Given the description of an element on the screen output the (x, y) to click on. 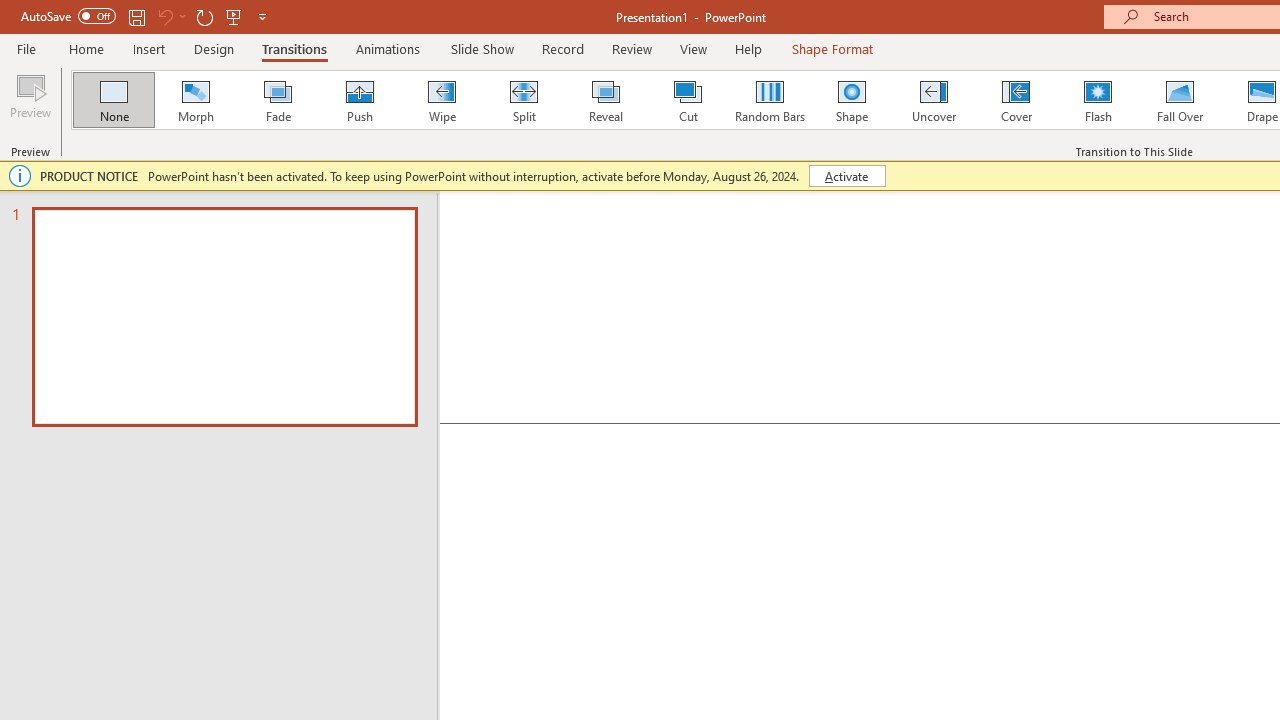
Fade (277, 100)
Morph (195, 100)
Reveal (605, 100)
Fall Over (1180, 100)
Flash (1098, 100)
None (113, 100)
Shape (852, 100)
